Given the description of an element on the screen output the (x, y) to click on. 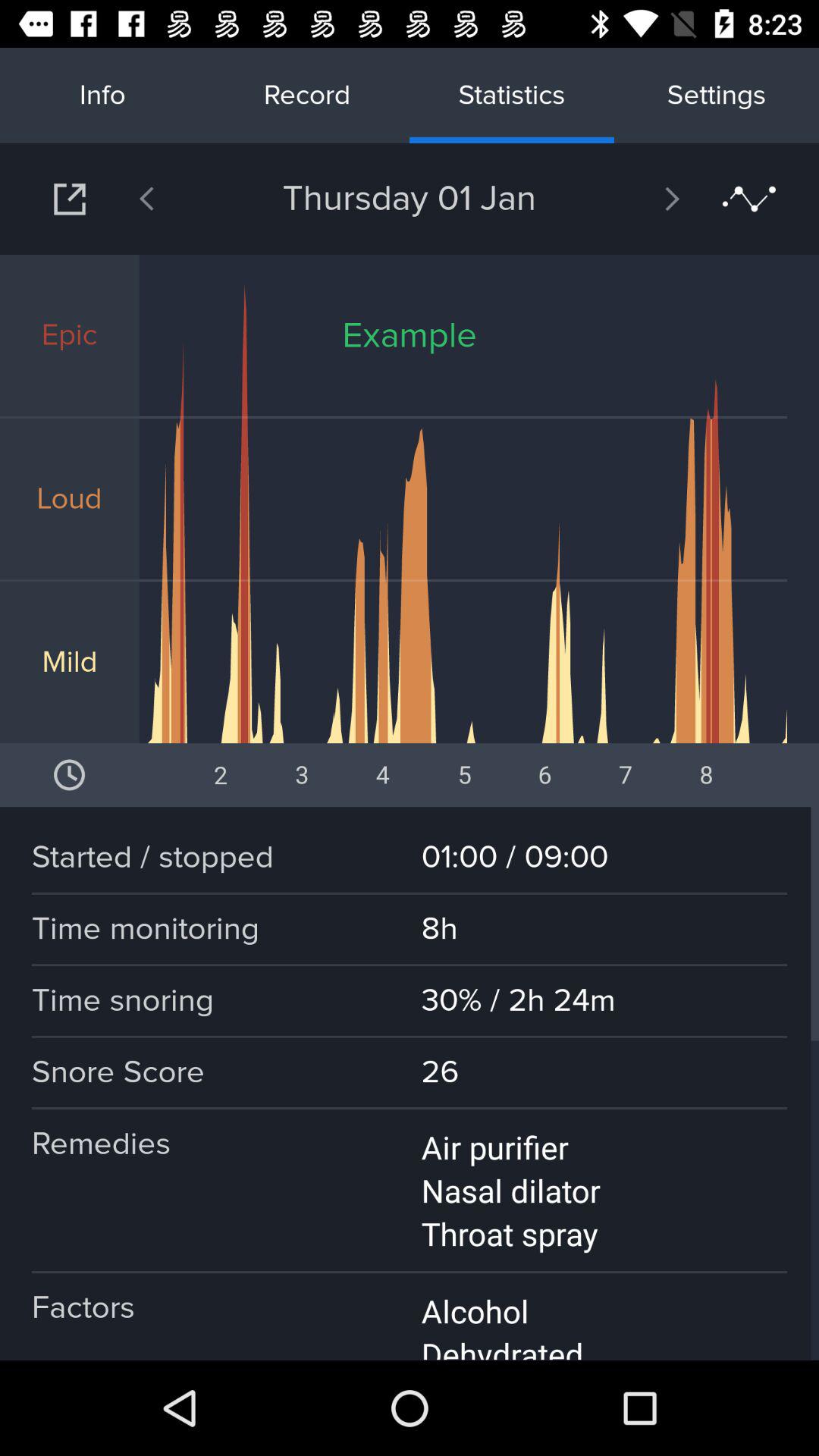
press the item below info icon (186, 198)
